Given the description of an element on the screen output the (x, y) to click on. 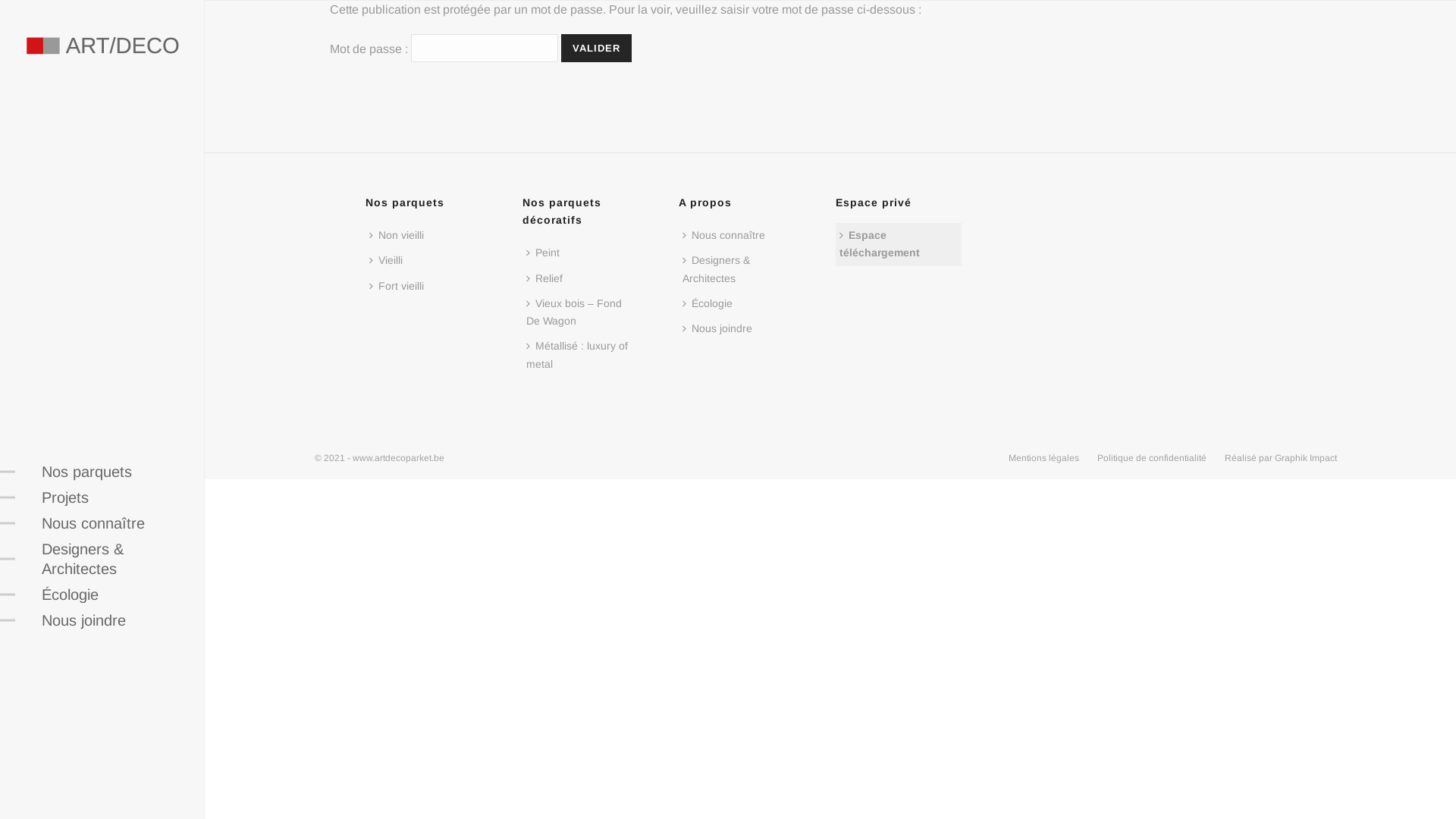
Relief Element type: text (548, 278)
Fabricant de parquet haut de gamme Element type: hover (101, 45)
Peint Element type: text (546, 252)
Art Deco Element type: hover (101, 45)
Non vieilli Element type: text (400, 234)
Projets Element type: text (98, 497)
Fort vieilli Element type: text (400, 285)
Designers & Architectes Element type: text (741, 268)
Nous joindre Element type: text (720, 328)
Nos parquets Element type: text (98, 471)
Designers & Architectes Element type: text (98, 558)
Vieilli Element type: text (389, 260)
Nous joindre Element type: text (98, 620)
Valider Element type: text (596, 48)
